Given the description of an element on the screen output the (x, y) to click on. 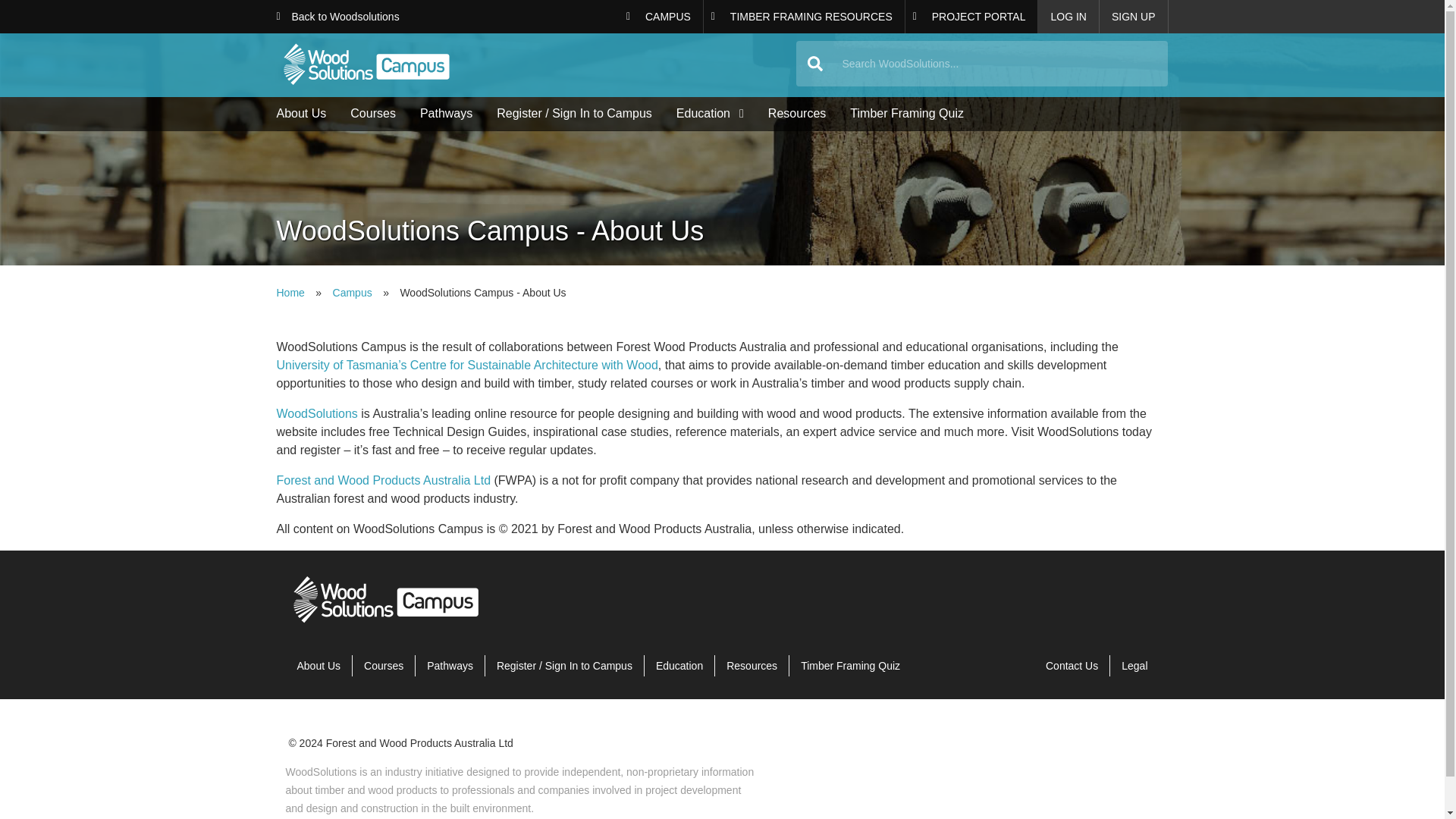
Timber Framing Resources (804, 16)
Courses (373, 113)
WoodSolutions (316, 413)
Home (536, 64)
Campus (352, 292)
Education (710, 113)
Pathways (445, 113)
Timber-rich projects from around the world (972, 16)
Legal (1133, 665)
Timber Framing Tutorial (850, 665)
About Us (318, 665)
Resources (796, 113)
SIGN UP (1134, 16)
Home (387, 623)
Timber Framing Quiz (906, 113)
